Given the description of an element on the screen output the (x, y) to click on. 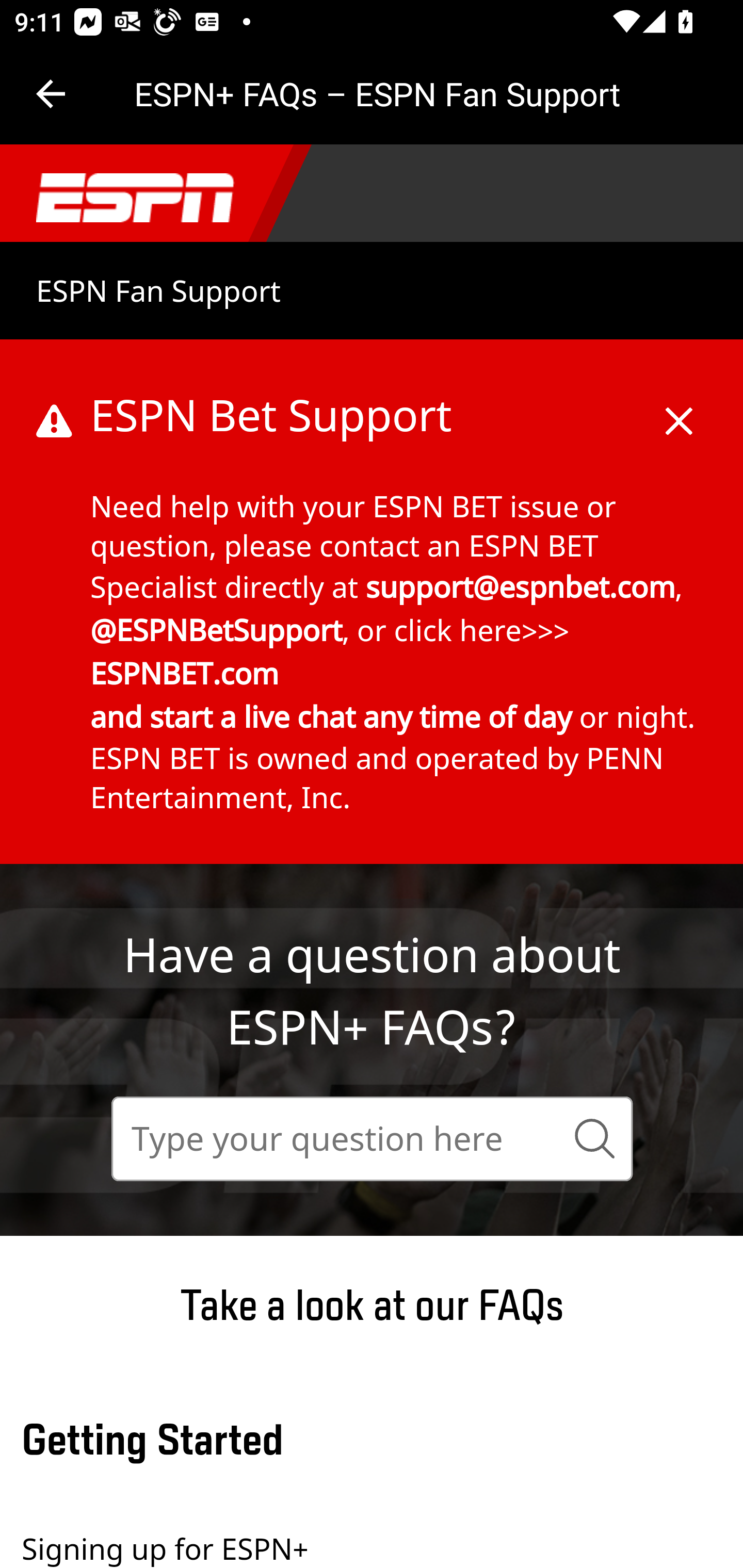
Navigate up (50, 93)
ESPN Fan Support (158, 291)
Close alert message (679, 460)
support@espnbet.com (520, 585)
@ESPNBetSupport (216, 629)
ESPNBET.com (184, 672)
and start a live chat any time of day (331, 716)
Getting Started (382, 1442)
Signing up for ESPN+ (382, 1538)
